Given the description of an element on the screen output the (x, y) to click on. 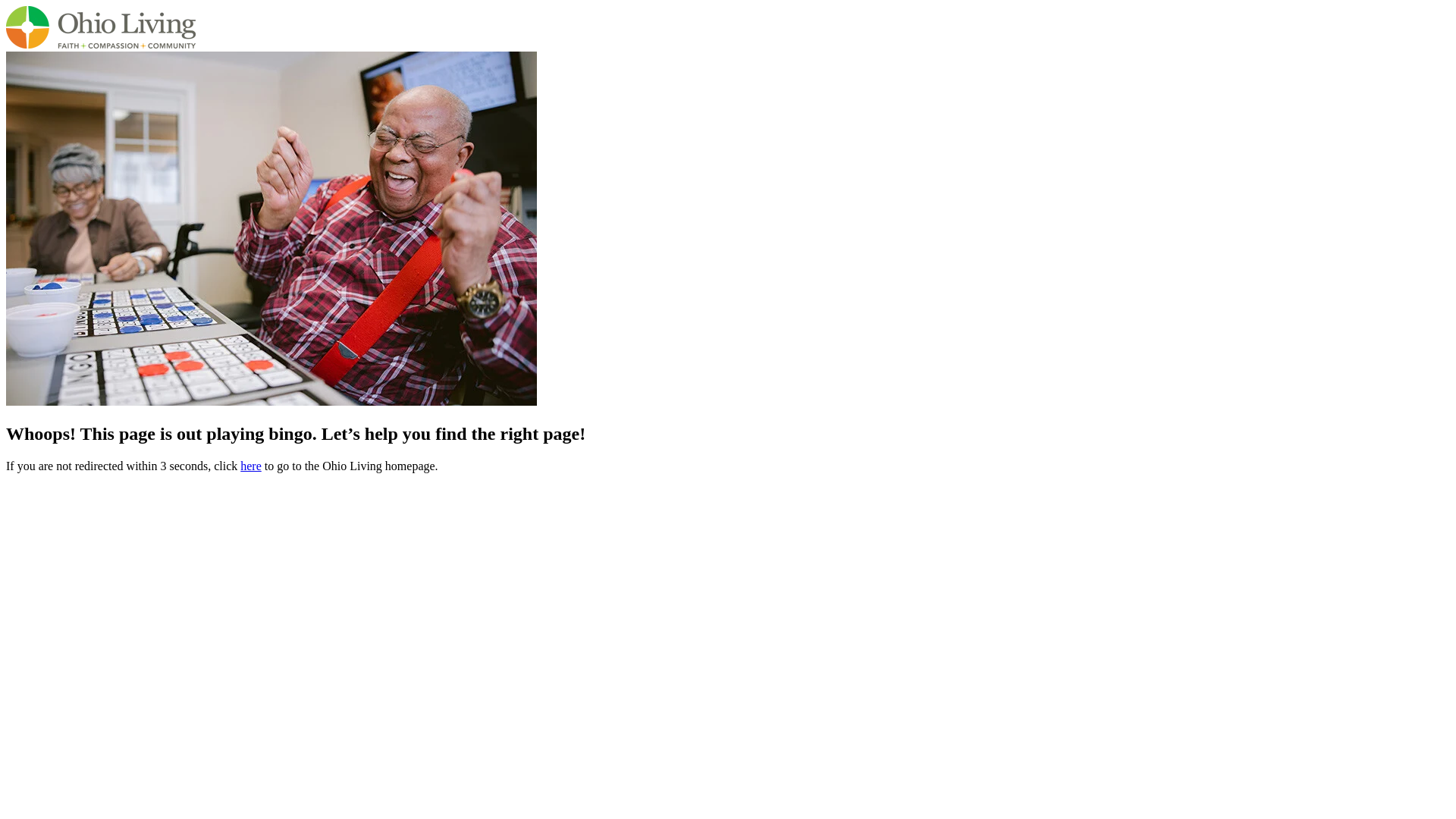
here (251, 465)
OL-Corporate RGB 4C (100, 26)
